Given the description of an element on the screen output the (x, y) to click on. 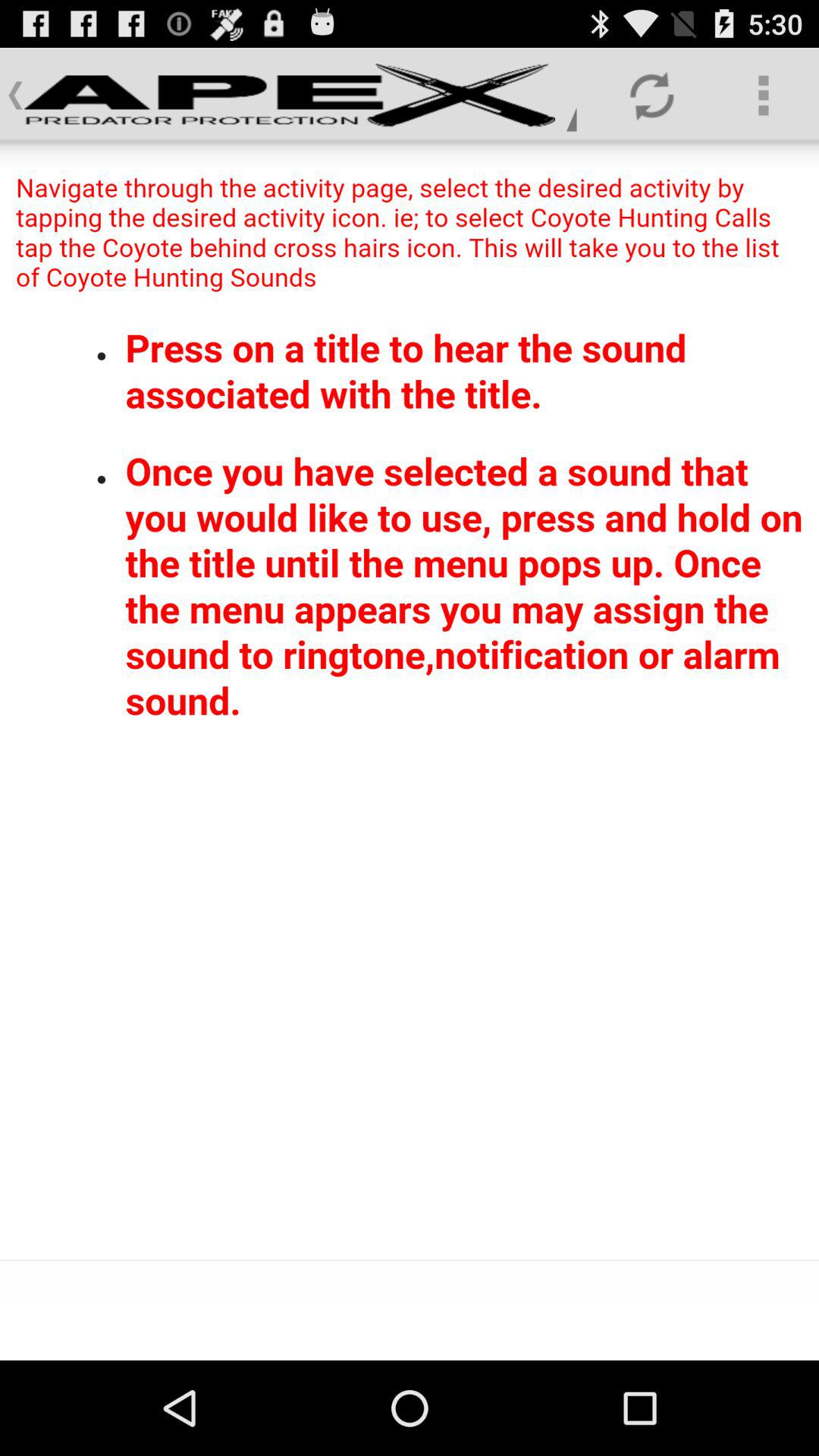
read all (409, 701)
